Given the description of an element on the screen output the (x, y) to click on. 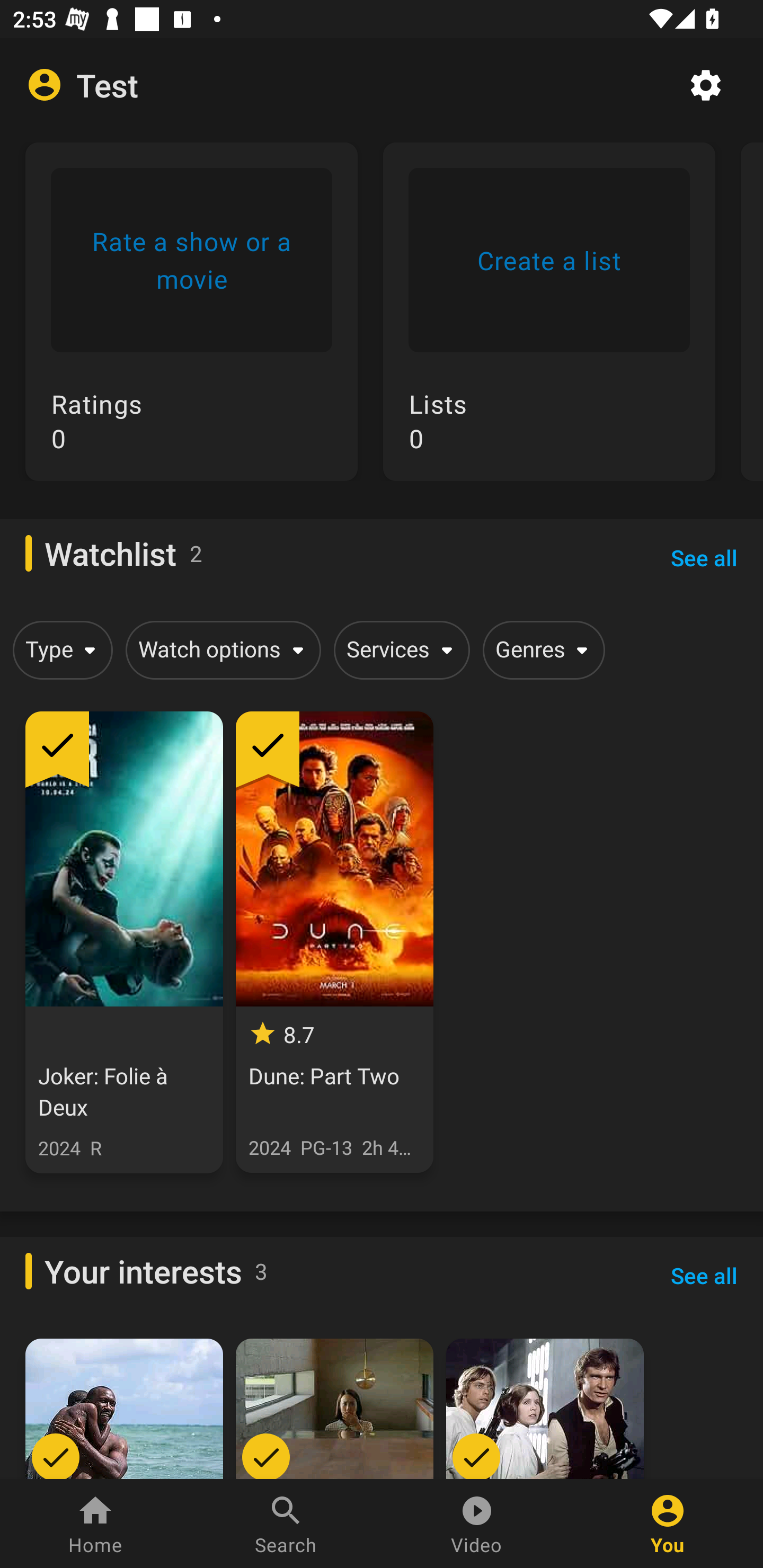
Rate a show or a movie Ratings 0 (191, 324)
Create a list Lists 0 (548, 324)
See all See all Watchlist (703, 557)
Type (59, 649)
Watch options (219, 649)
Services (398, 649)
Genres (540, 649)
Joker: Folie à Deux 2024  R   (123, 941)
8.7 Dune: Part Two 2024  PG-13  2h 46m (334, 941)
See all See all Your interests (703, 1275)
Home (95, 1523)
Search (285, 1523)
Video (476, 1523)
